Given the description of an element on the screen output the (x, y) to click on. 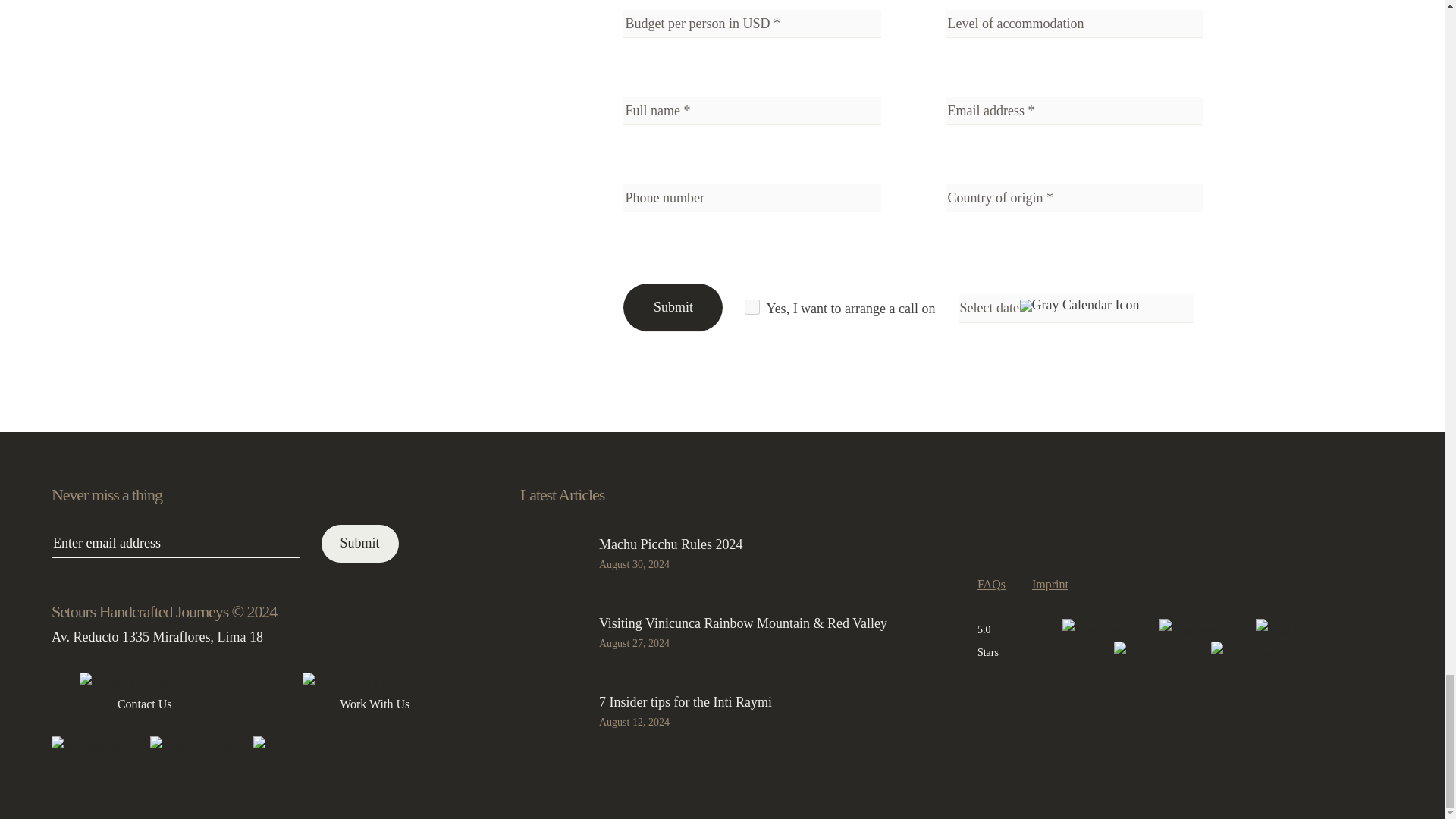
Submit (672, 307)
1 (752, 306)
Submit (359, 543)
